Given the description of an element on the screen output the (x, y) to click on. 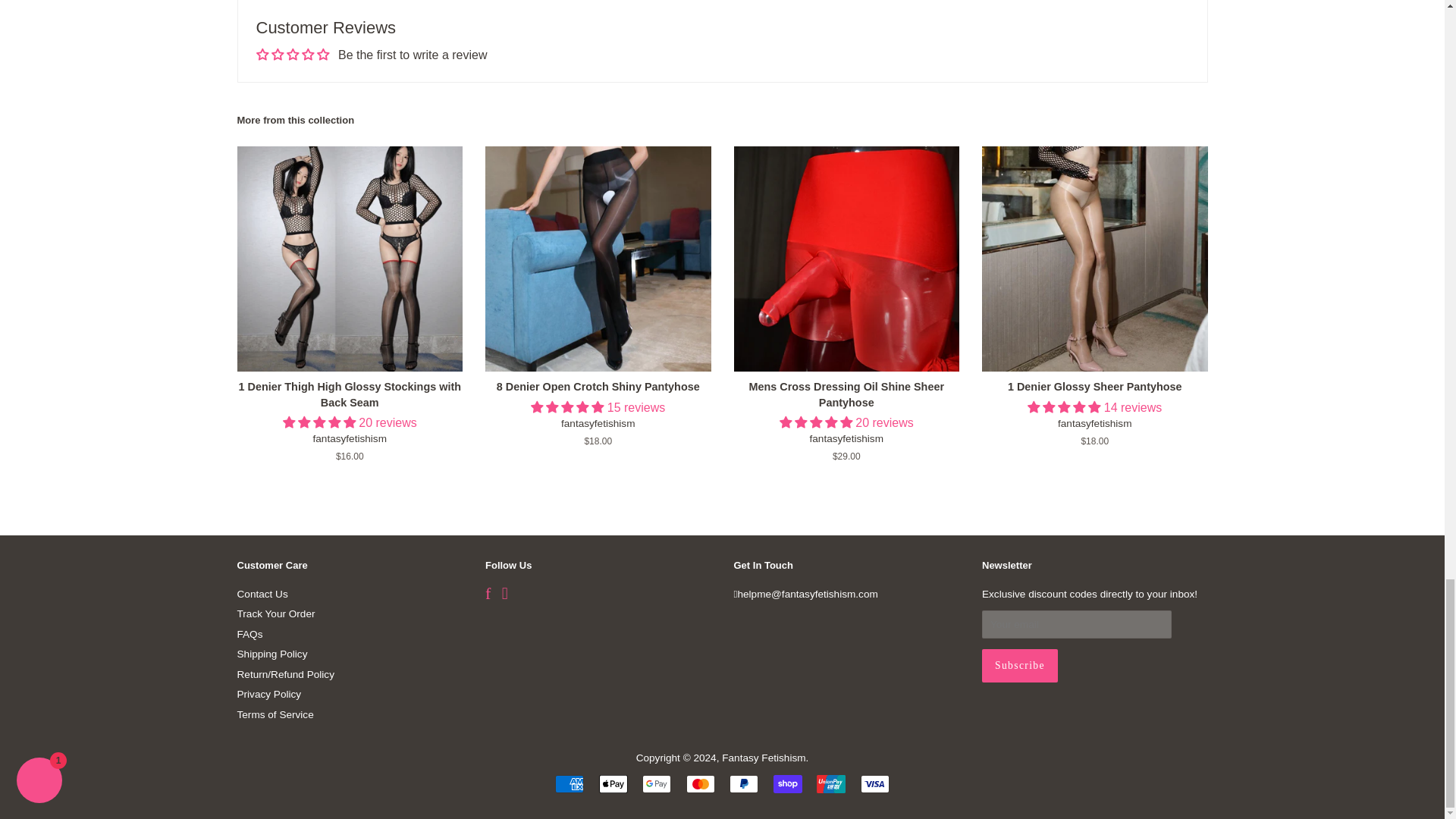
PayPal (743, 783)
American Express (568, 783)
Google Pay (656, 783)
Shop Pay (787, 783)
Union Pay (830, 783)
Subscribe (1019, 665)
Visa (874, 783)
Apple Pay (612, 783)
Mastercard (699, 783)
